Given the description of an element on the screen output the (x, y) to click on. 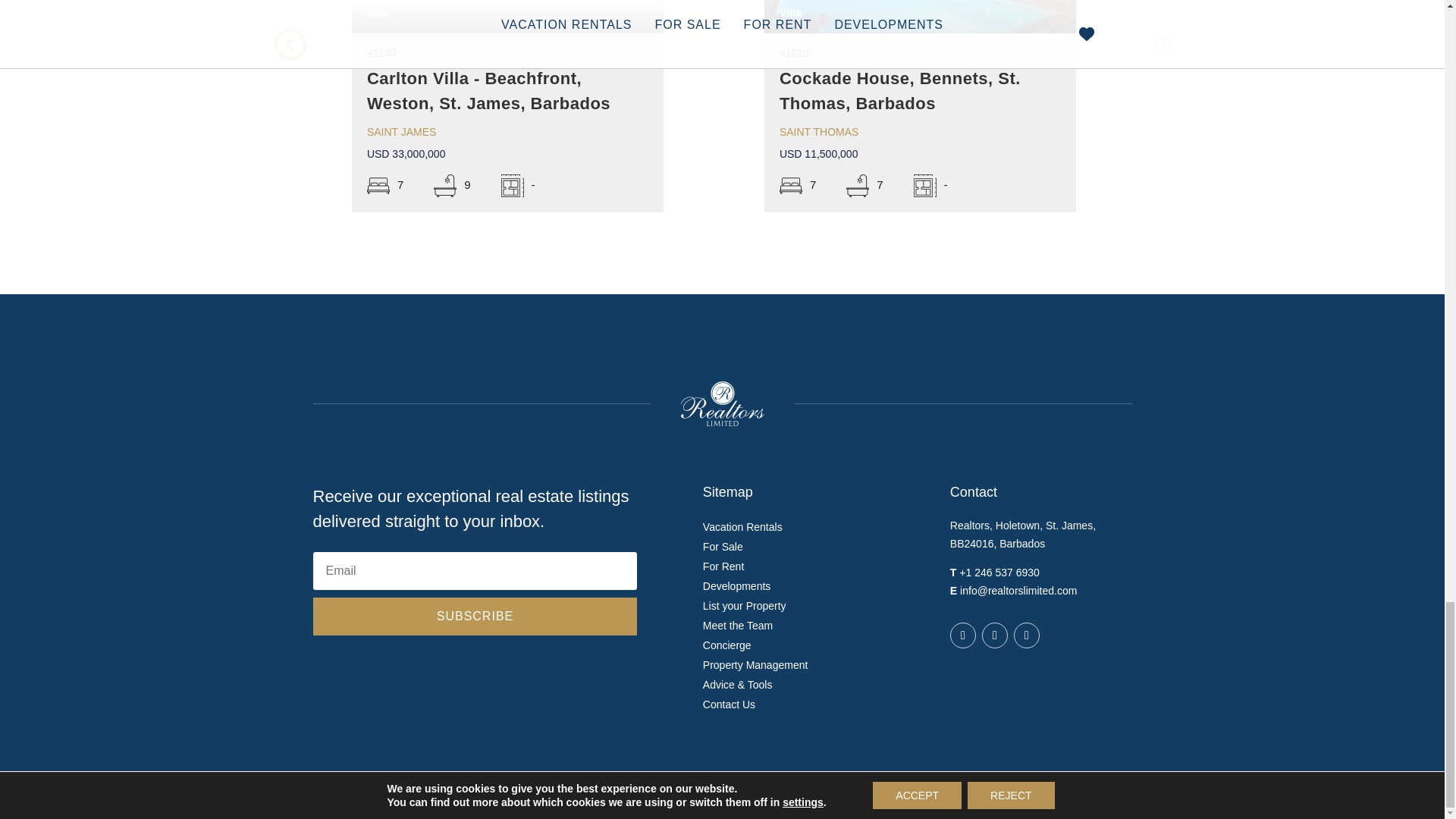
Follow on Facebook (962, 635)
Follow on Youtube (1026, 635)
Follow on Instagram (994, 635)
